Given the description of an element on the screen output the (x, y) to click on. 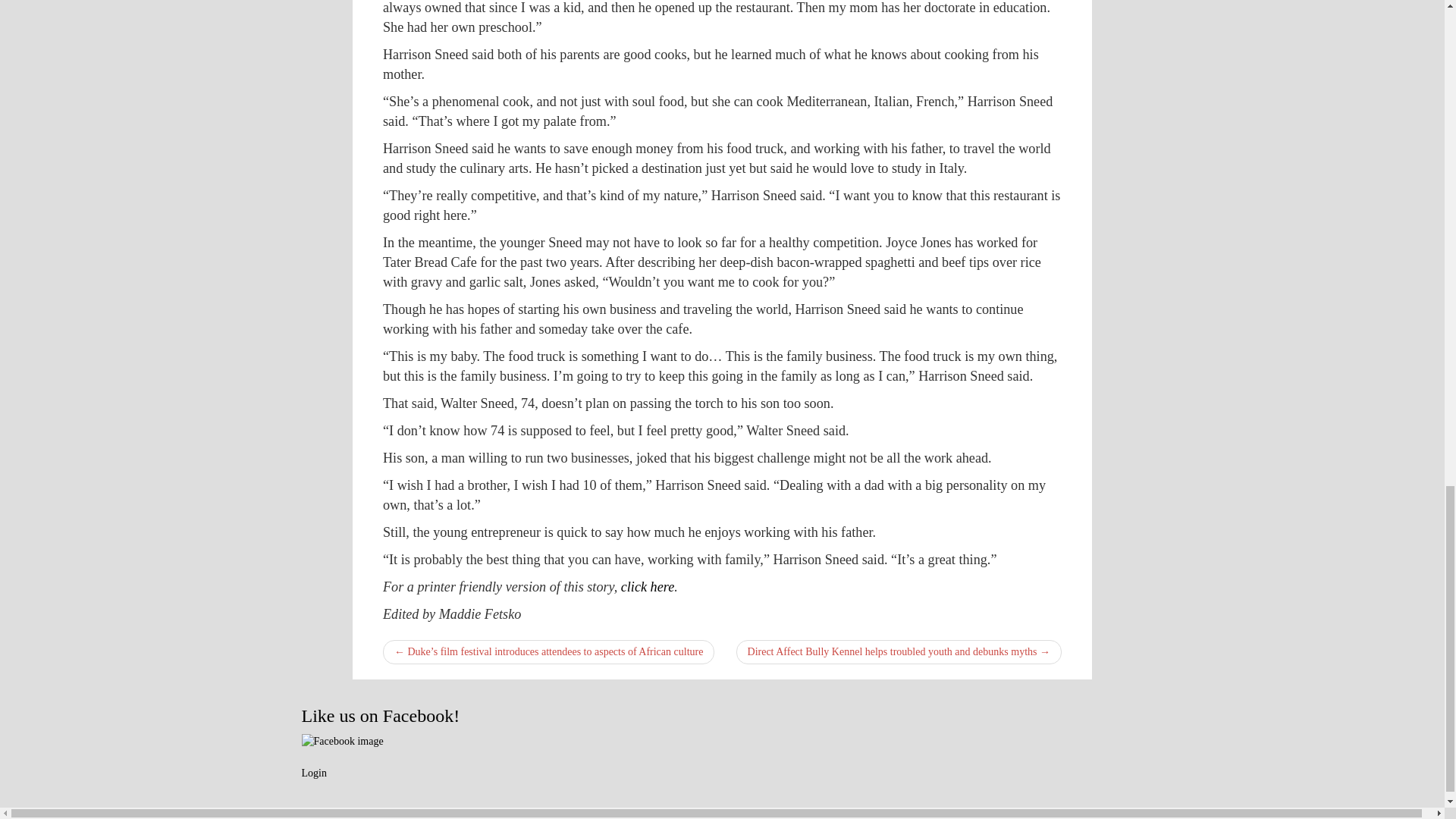
Login (313, 772)
click here (648, 586)
Like us on Facebook! (380, 715)
